Given the description of an element on the screen output the (x, y) to click on. 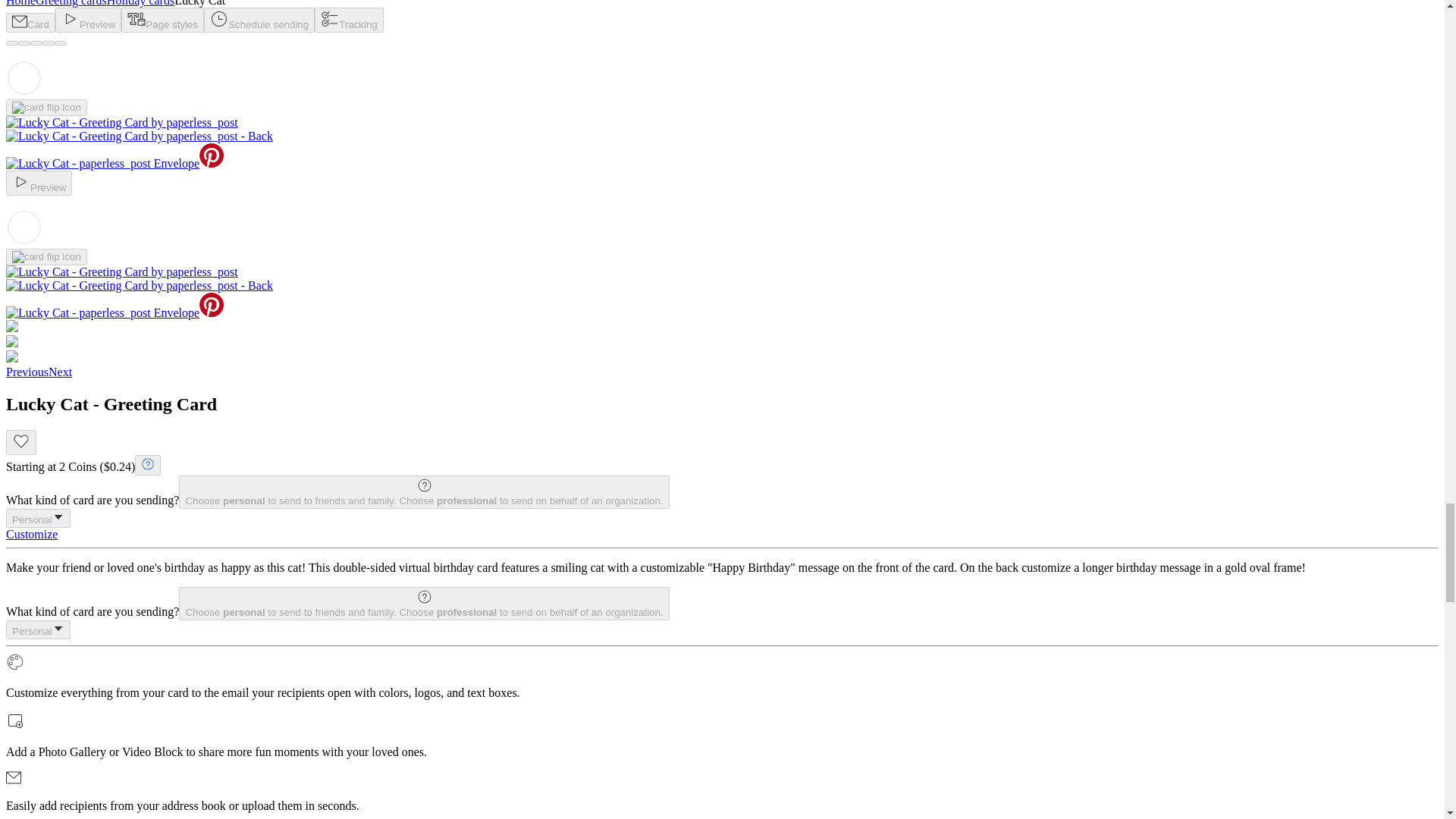
Closed envelope (19, 21)
Schedule sending icon (218, 18)
play icon (20, 181)
Loading... (23, 77)
Page style icon (136, 18)
tracking icon (329, 18)
play icon (70, 18)
Loading... (23, 227)
Pinterest icon (211, 155)
